Given the description of an element on the screen output the (x, y) to click on. 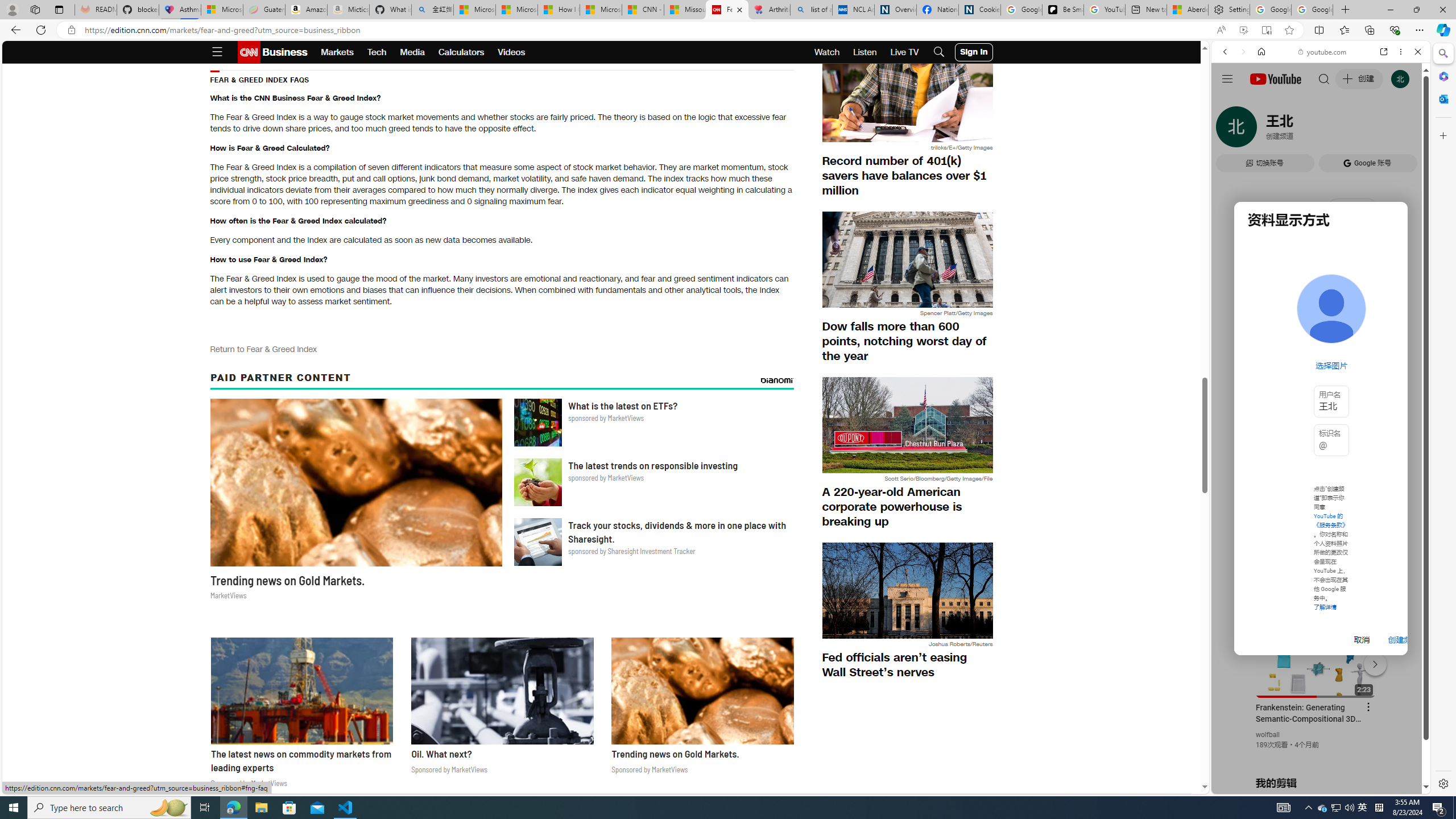
Markets (336, 51)
Read aloud this page (Ctrl+Shift+U) (1220, 29)
Favorites (1344, 29)
Address and search bar (647, 29)
Search Filter, IMAGES (1262, 129)
Settings (1442, 783)
Listen (864, 52)
User Account Log In Button (973, 52)
MarketViews Oil. What next? Sponsored by MarketViews (502, 709)
AutomationID: aw0 (600, 113)
Search Filter, VIDEOS (1300, 129)
Calculators (461, 51)
Be Smart | creating Science videos | Patreon (1062, 9)
